Given the description of an element on the screen output the (x, y) to click on. 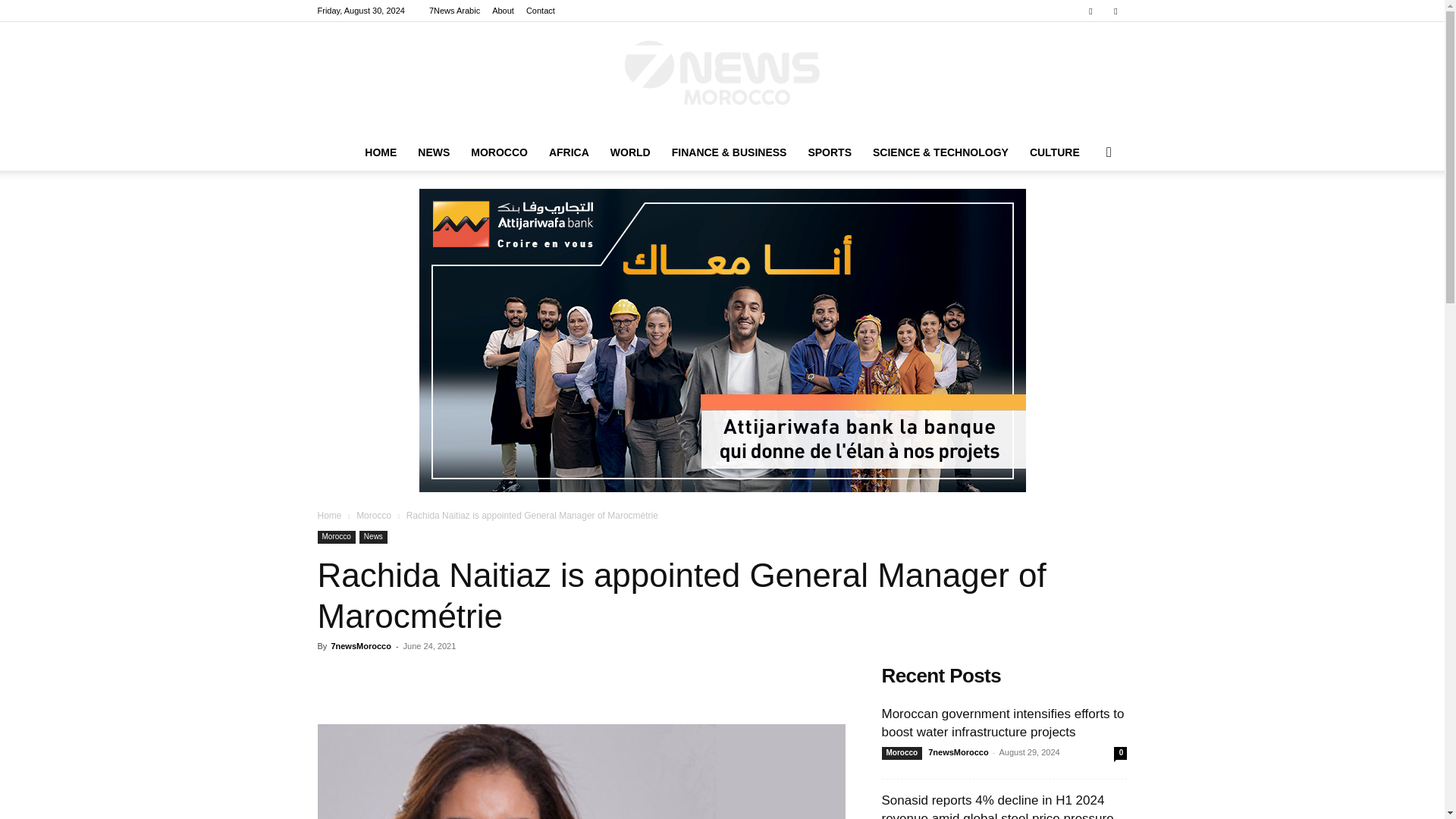
WORLD (630, 152)
7News Arabic (454, 10)
MOROCCO (499, 152)
Search (1085, 212)
Home (328, 515)
About (502, 10)
Twitter (1114, 10)
Morocco (336, 536)
View all posts in Morocco (373, 515)
HOME (380, 152)
